Given the description of an element on the screen output the (x, y) to click on. 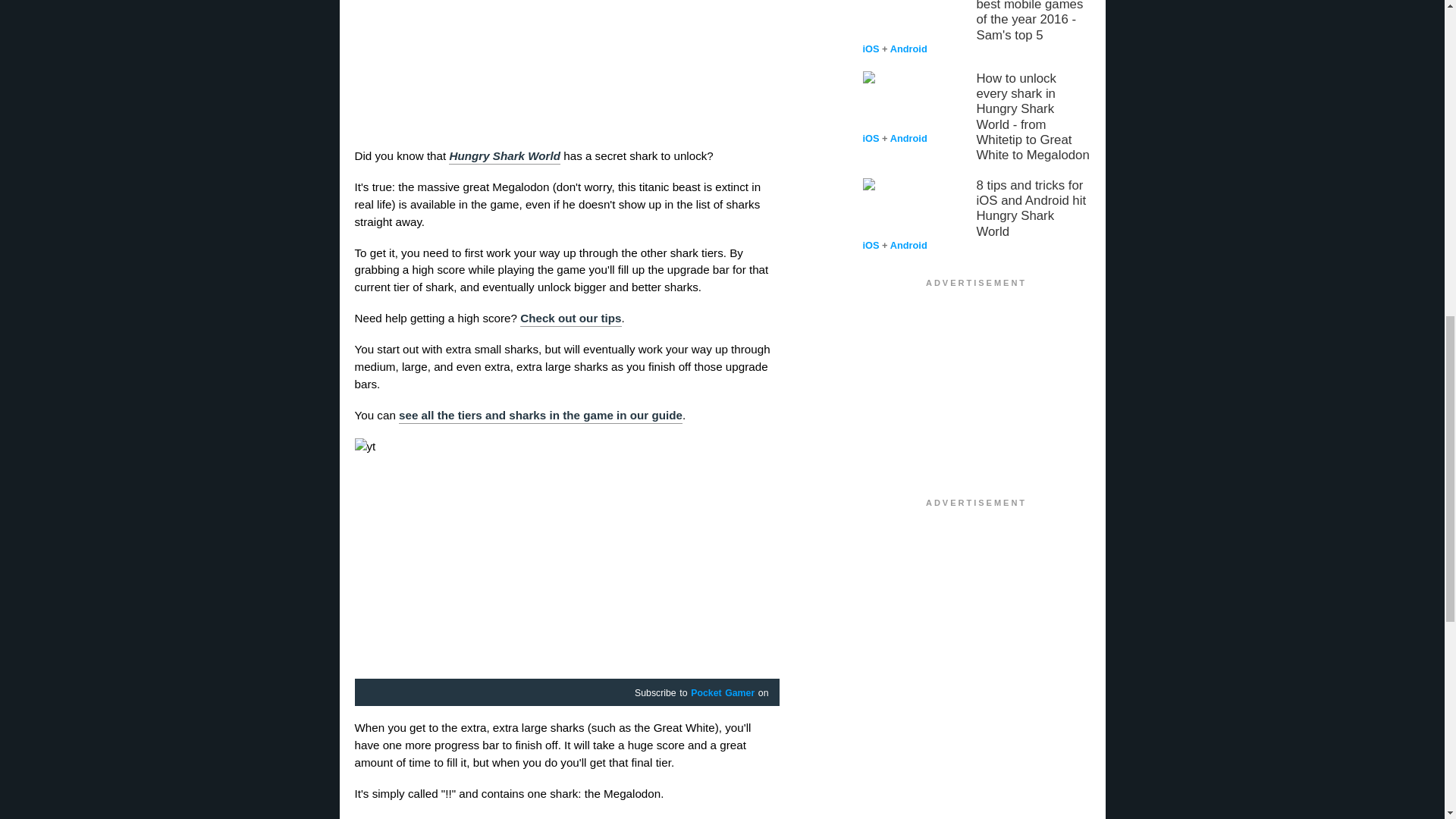
Pocket Gamer (722, 693)
Hungry Shark World (504, 156)
see all the tiers and sharks in the game in our guide (540, 416)
Check out our tips (570, 319)
